Given the description of an element on the screen output the (x, y) to click on. 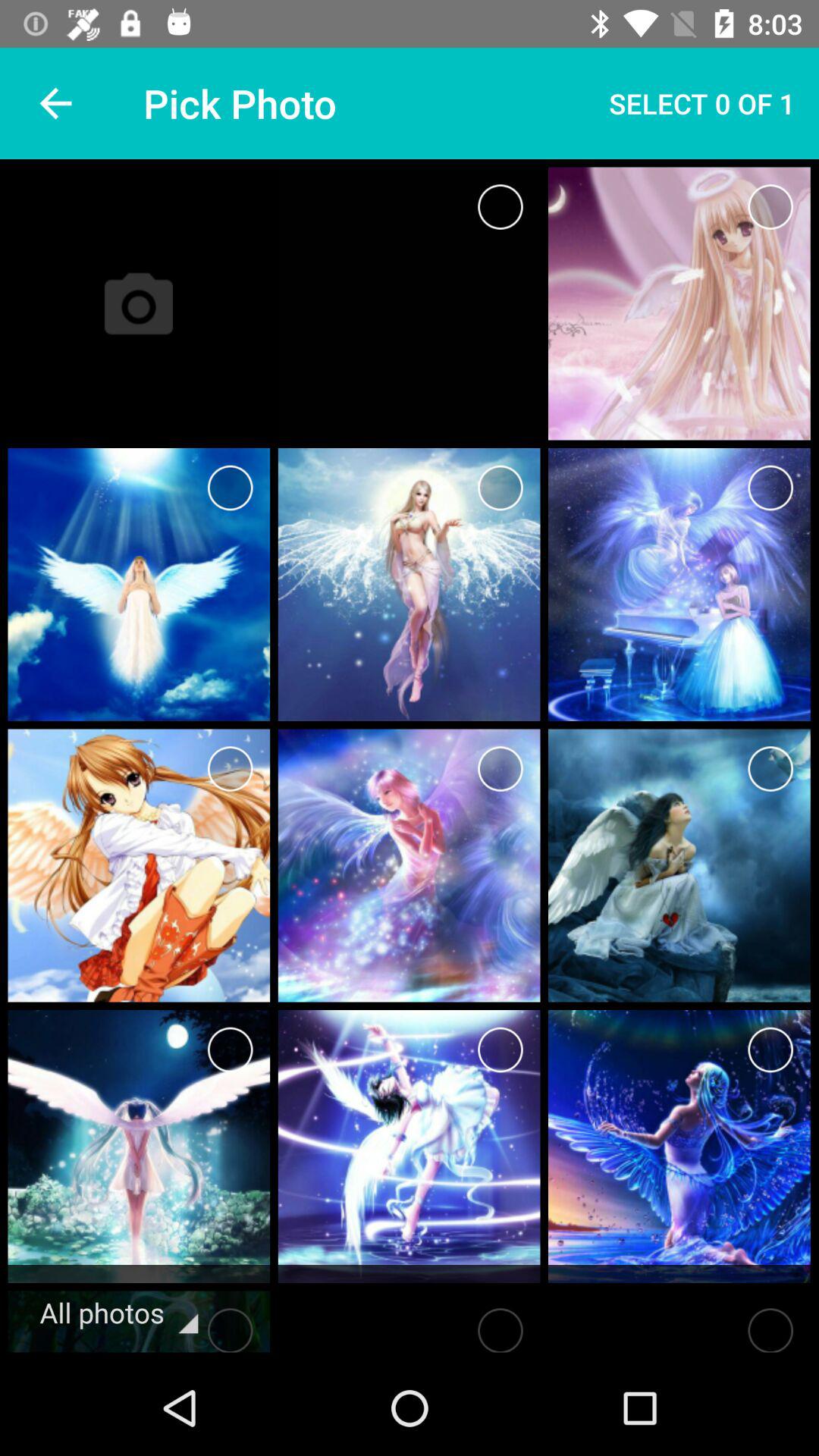
select photo (230, 1049)
